Given the description of an element on the screen output the (x, y) to click on. 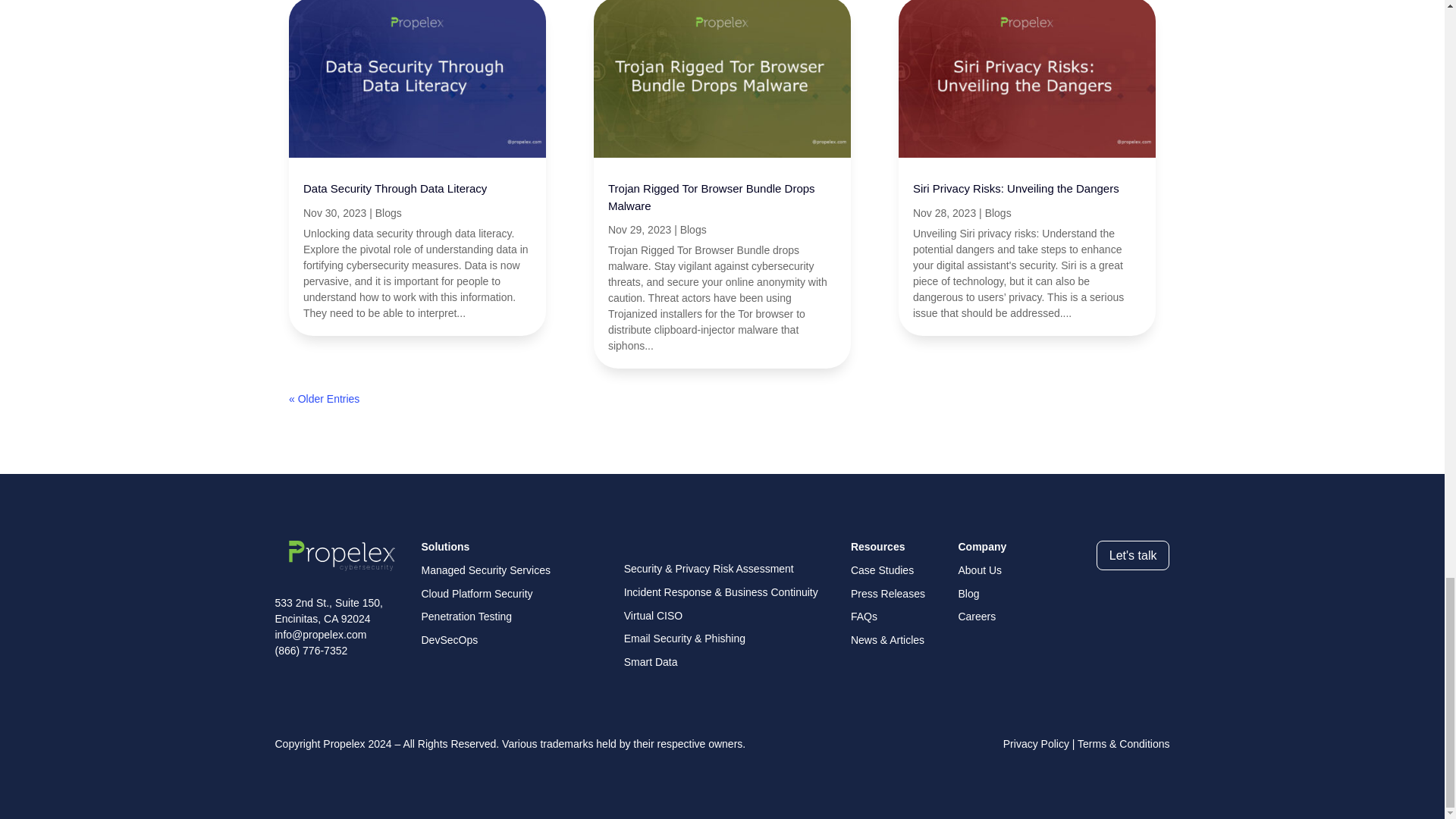
Propelex (341, 555)
